Given the description of an element on the screen output the (x, y) to click on. 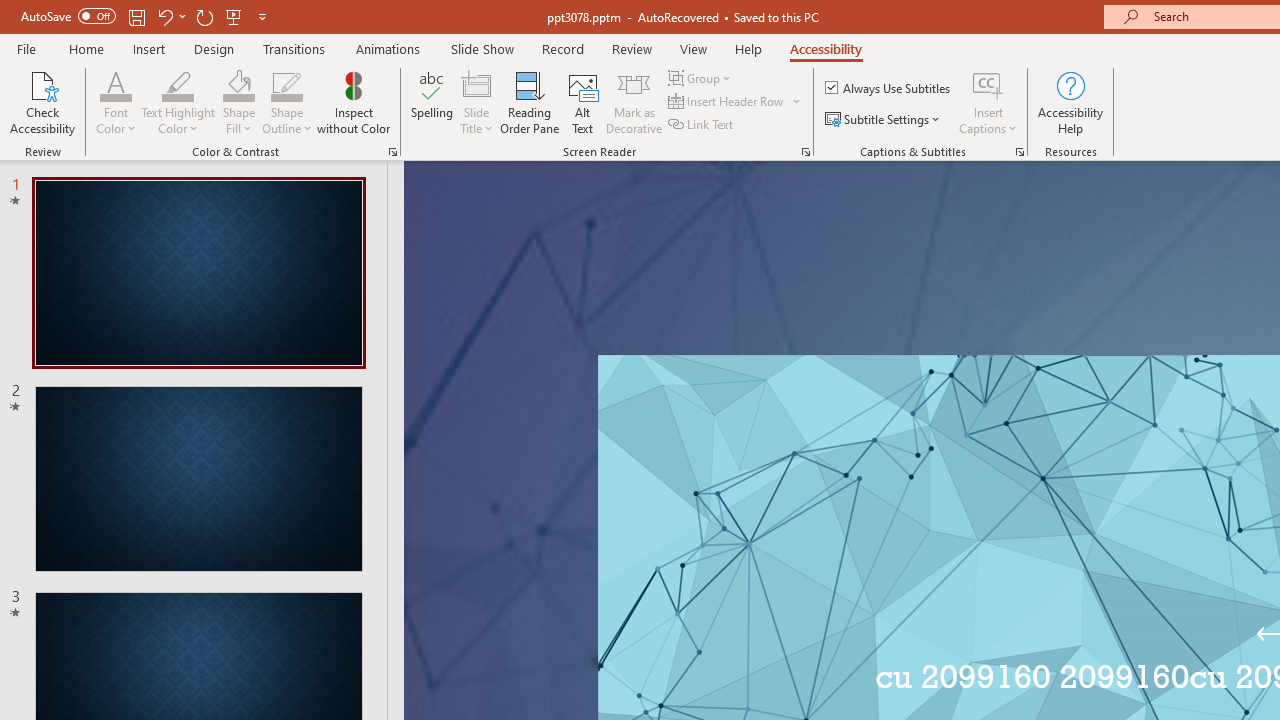
Insert Captions (988, 102)
Link Text (702, 124)
Insert Header Row (735, 101)
Check Accessibility (42, 102)
Inspect without Color (353, 102)
Spelling... (432, 102)
Insert Header Row (727, 101)
Alt Text (582, 102)
